Given the description of an element on the screen output the (x, y) to click on. 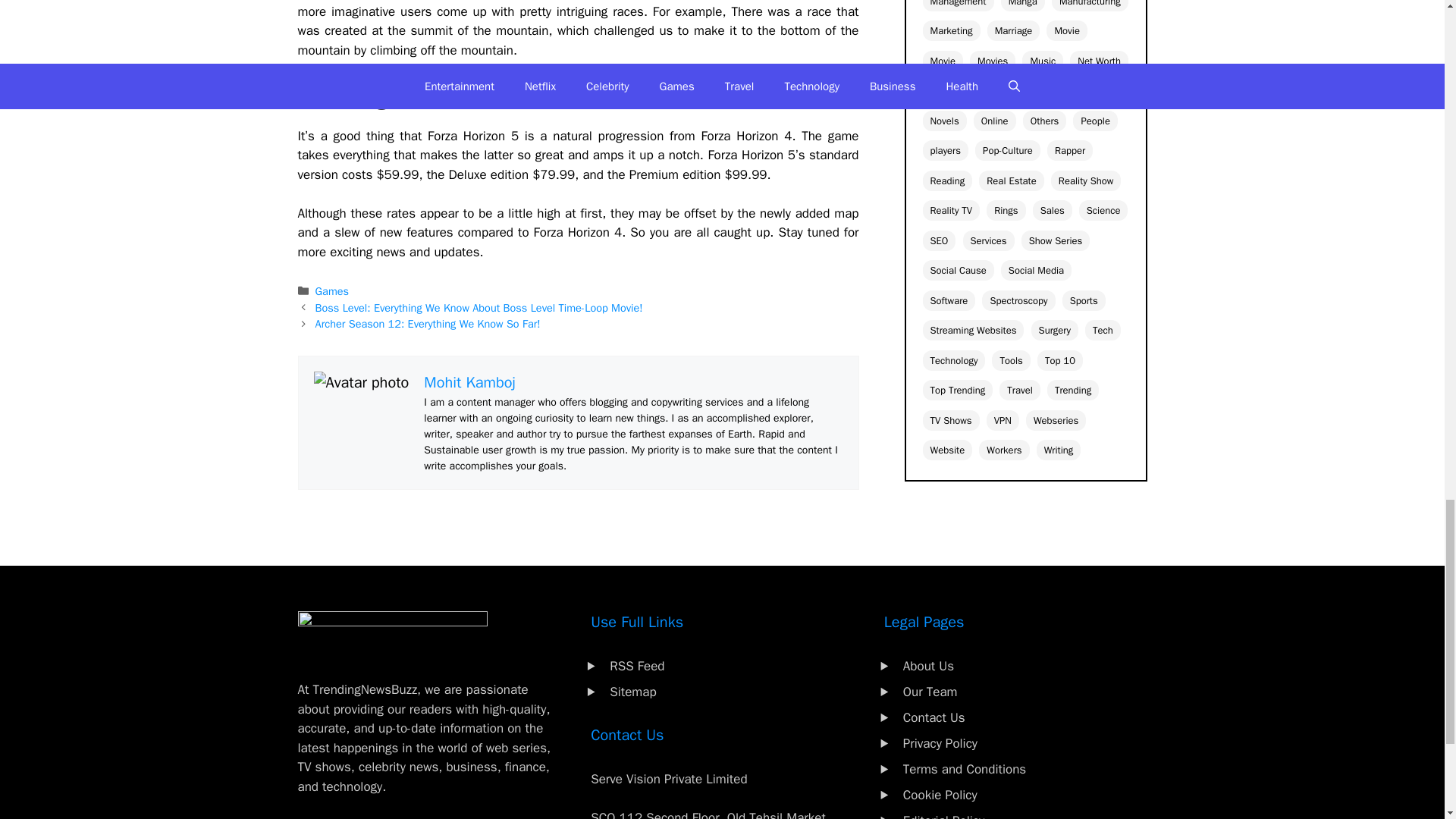
Games (332, 291)
Archer Season 12: Everything We Know So Far! (427, 323)
Trendingnewsbuzz-white (391, 634)
Mohit Kamboj (469, 382)
